Given the description of an element on the screen output the (x, y) to click on. 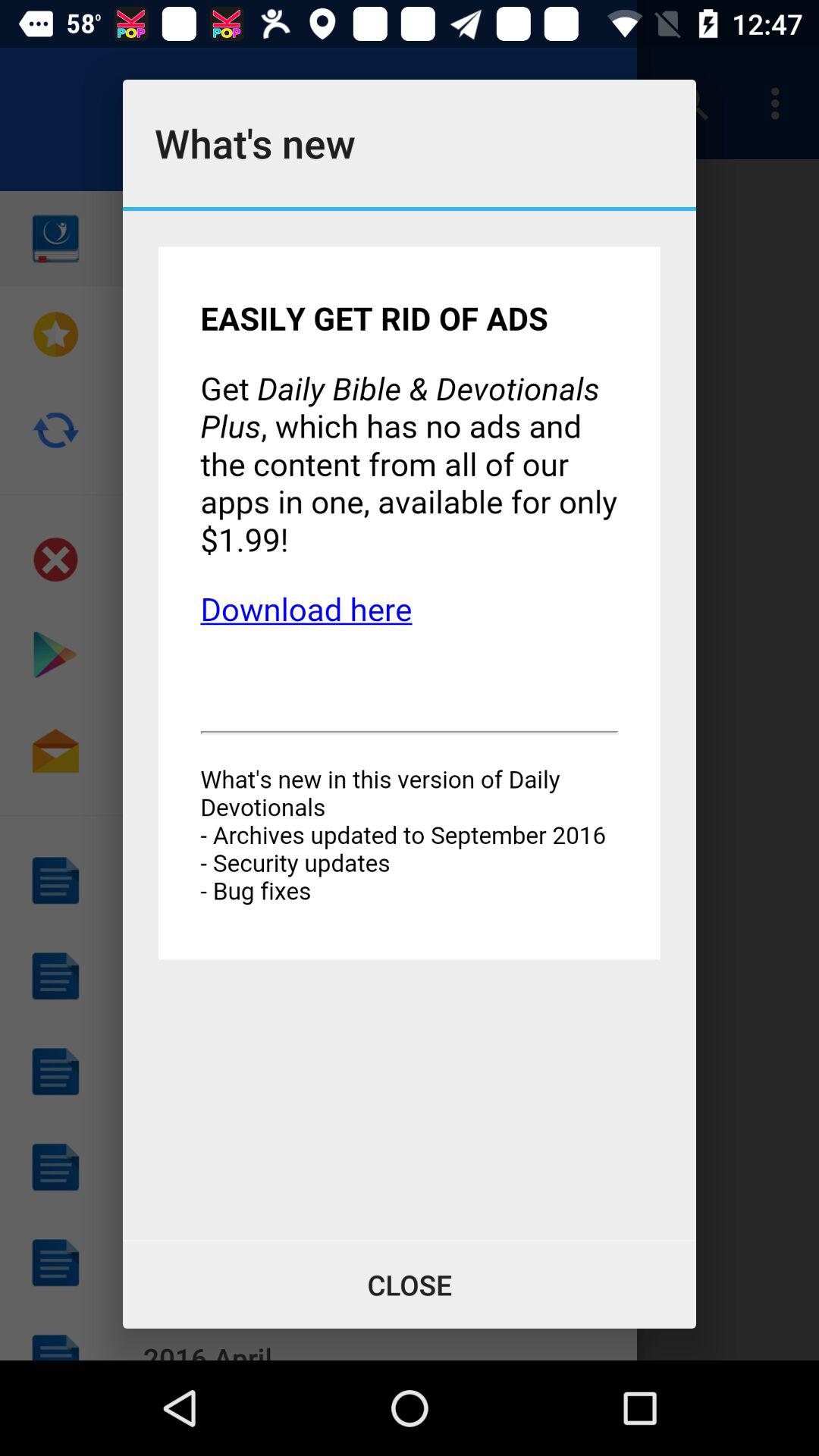
swipe until the close button (409, 1284)
